Given the description of an element on the screen output the (x, y) to click on. 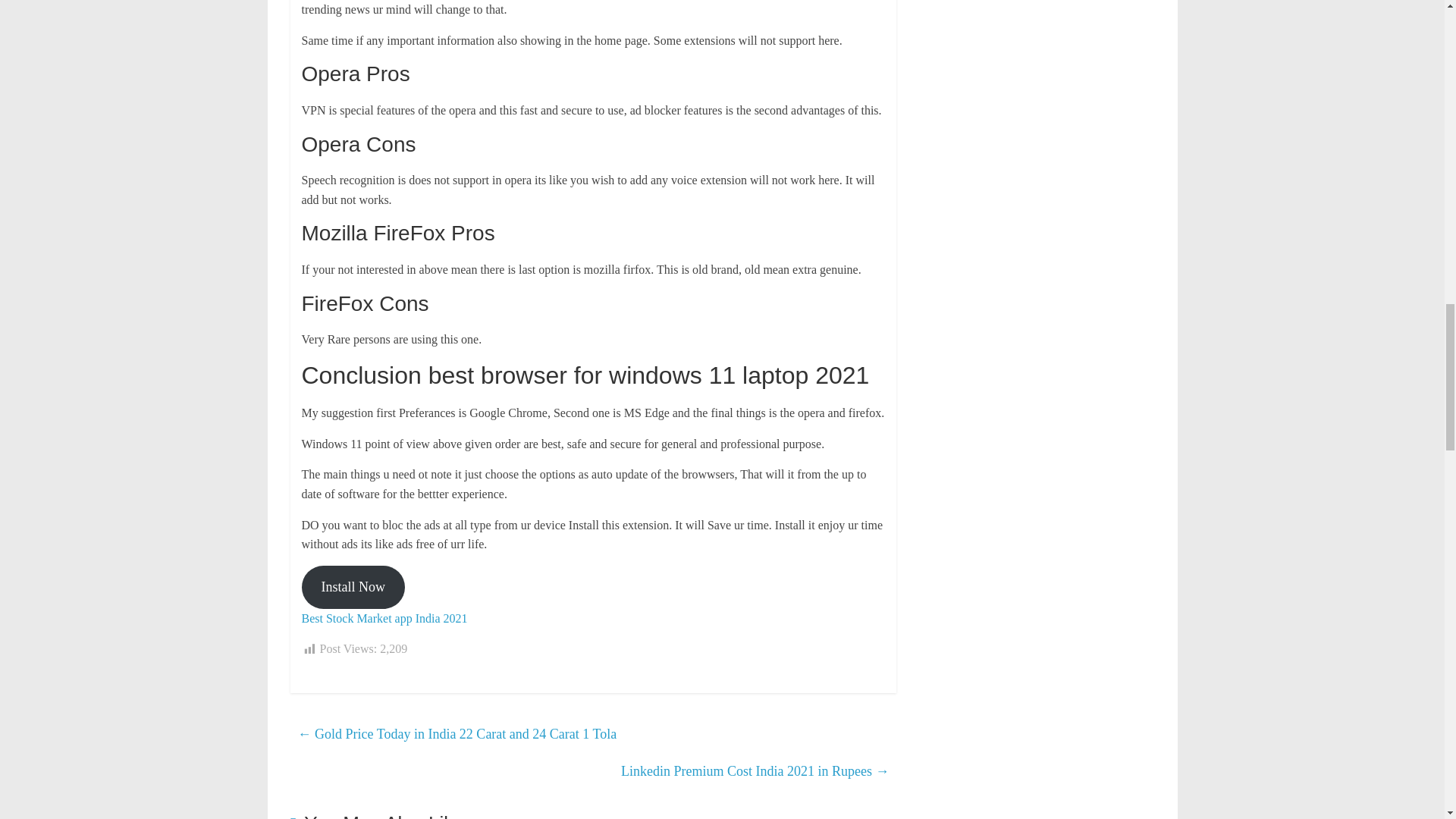
Install Now (352, 587)
Best Stock Market app India 2021 (384, 617)
